Given the description of an element on the screen output the (x, y) to click on. 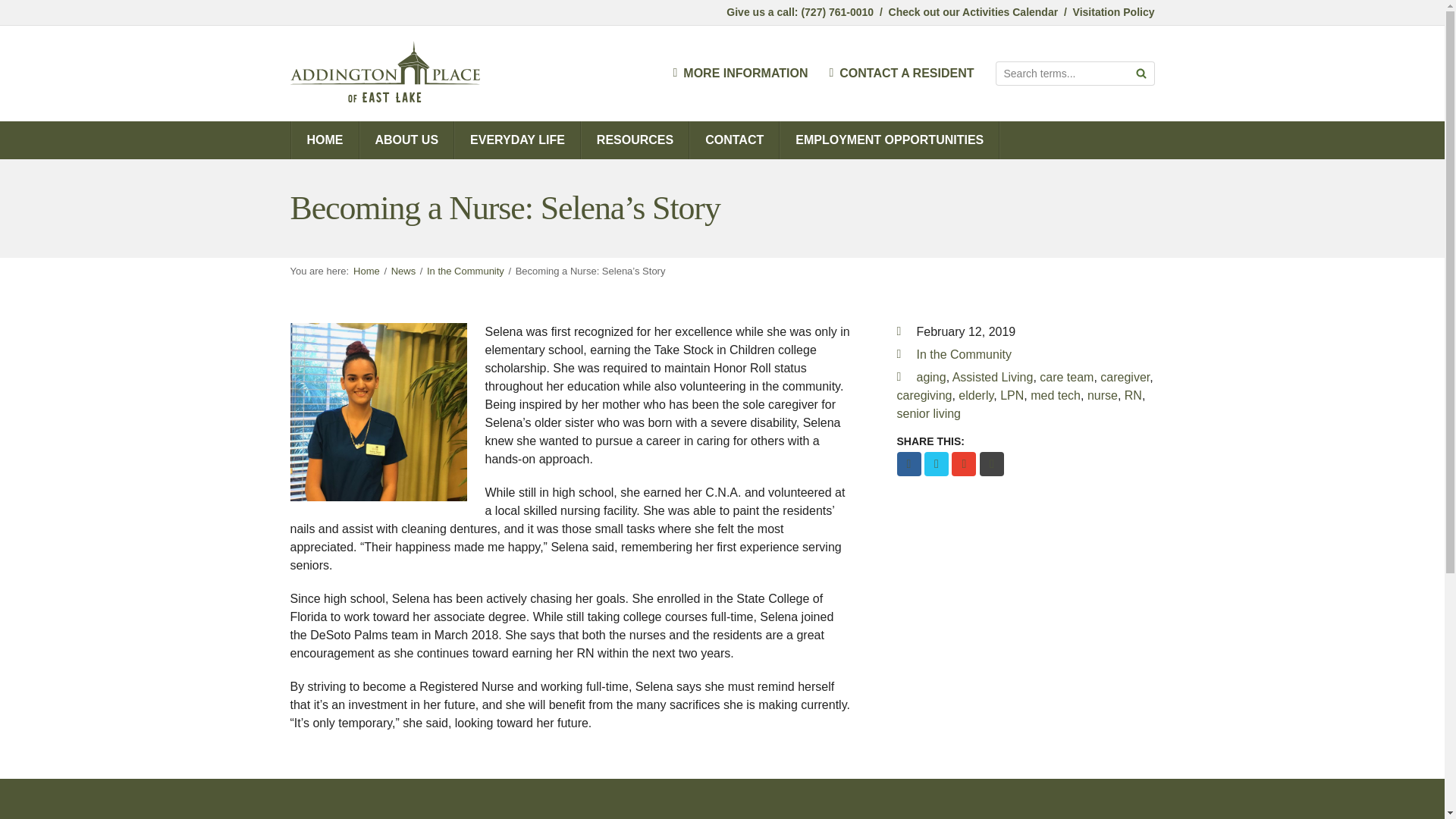
Share on Twitter (936, 463)
Search (1140, 73)
Home (366, 270)
Share on Facebook (908, 463)
News (403, 270)
care team (1066, 377)
Search (1140, 73)
Assisted Living (992, 377)
RESOURCES (634, 139)
In the Community (464, 270)
